Given the description of an element on the screen output the (x, y) to click on. 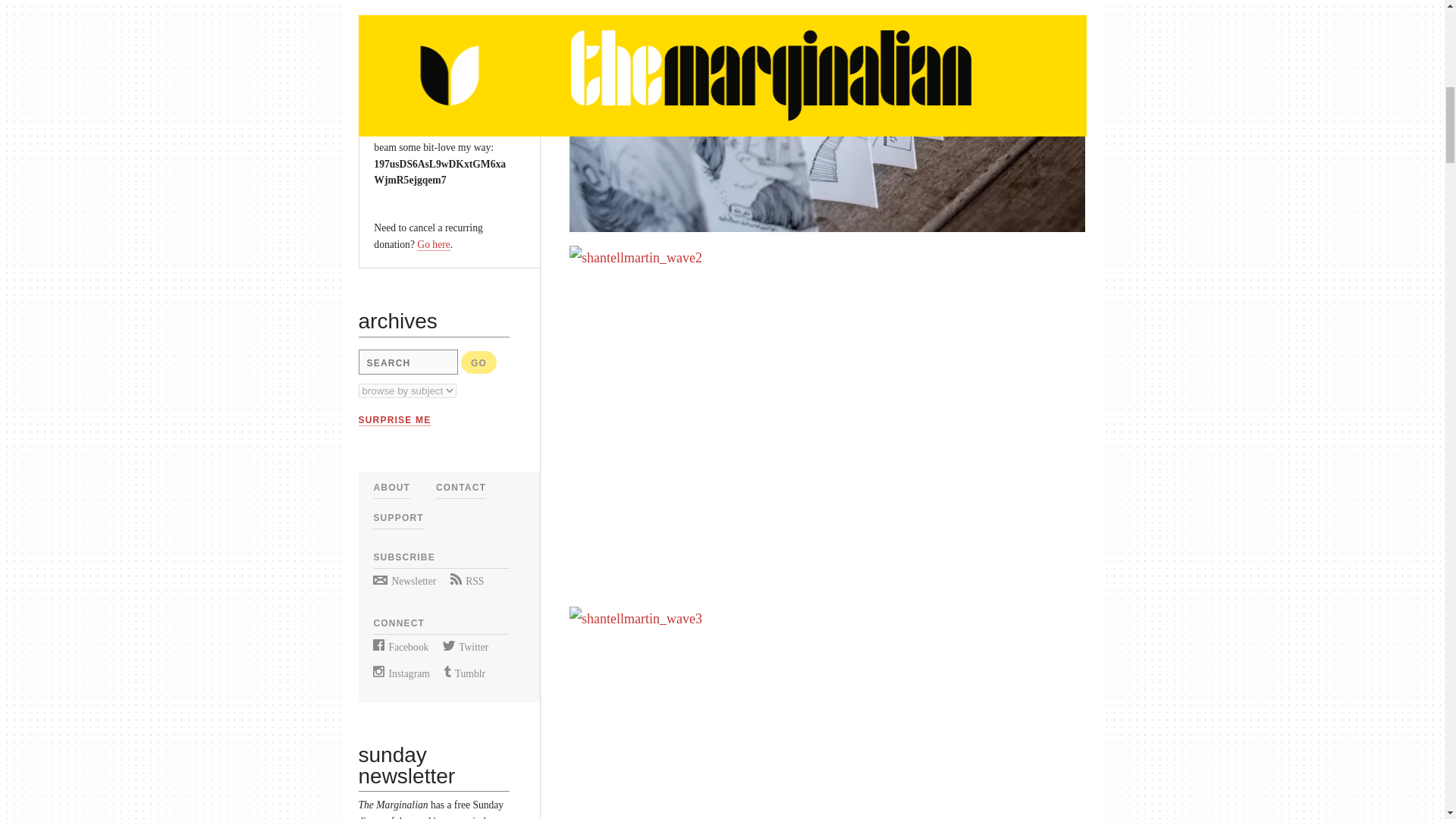
Instagram (400, 673)
GIVE NOW (410, 53)
RSS (466, 581)
CONTACT (460, 487)
ABOUT (391, 487)
Go here (432, 244)
Tumblr (464, 673)
Go (478, 362)
Twitter (464, 646)
Go (478, 362)
